Given the description of an element on the screen output the (x, y) to click on. 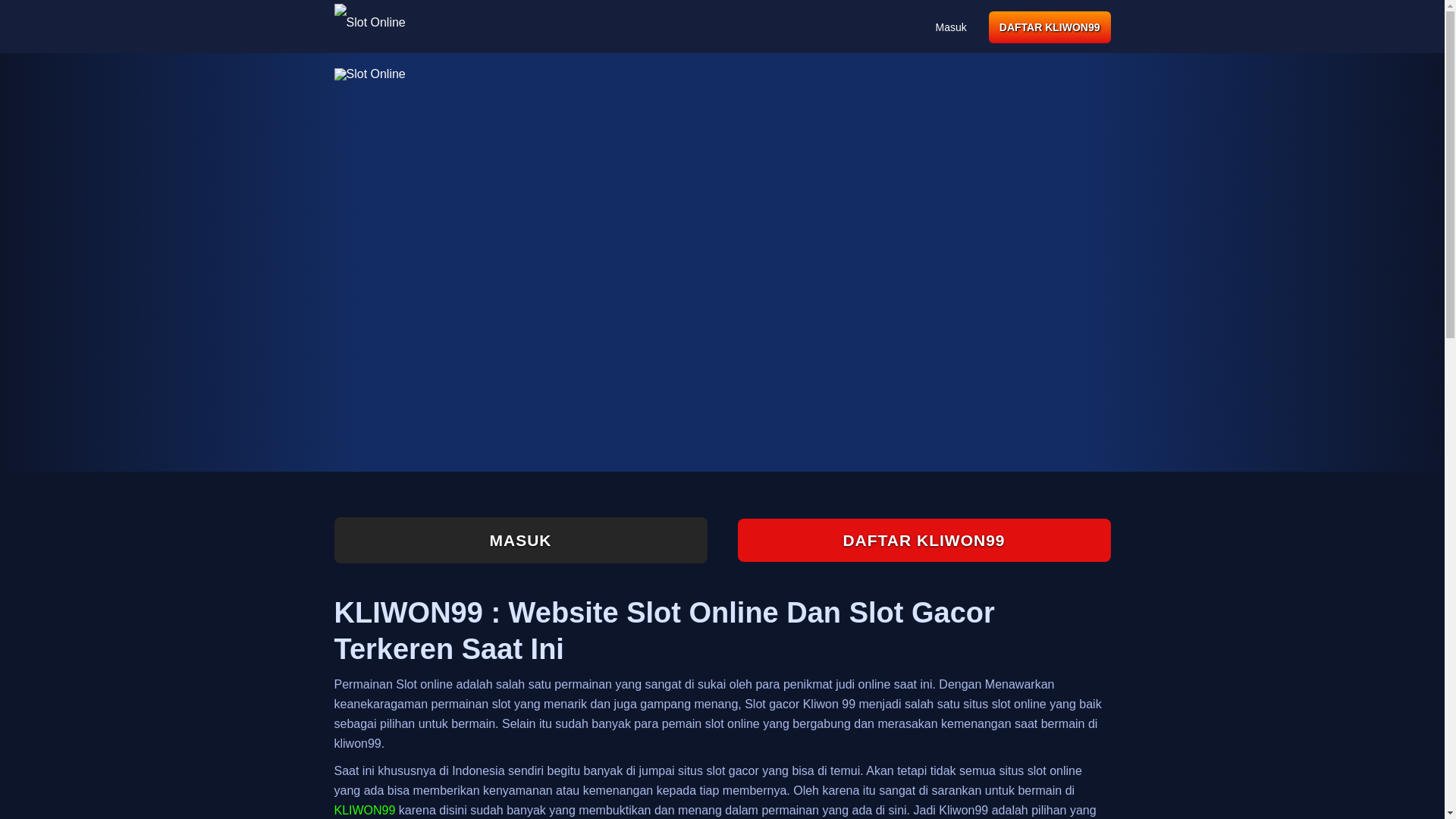
MASUK (519, 539)
DAFTAR KLIWON99 (922, 539)
KLIWON99 (363, 809)
KLIWON99 (363, 809)
Masuk (950, 27)
DAFTAR KLIWON99 (1049, 27)
